Given the description of an element on the screen output the (x, y) to click on. 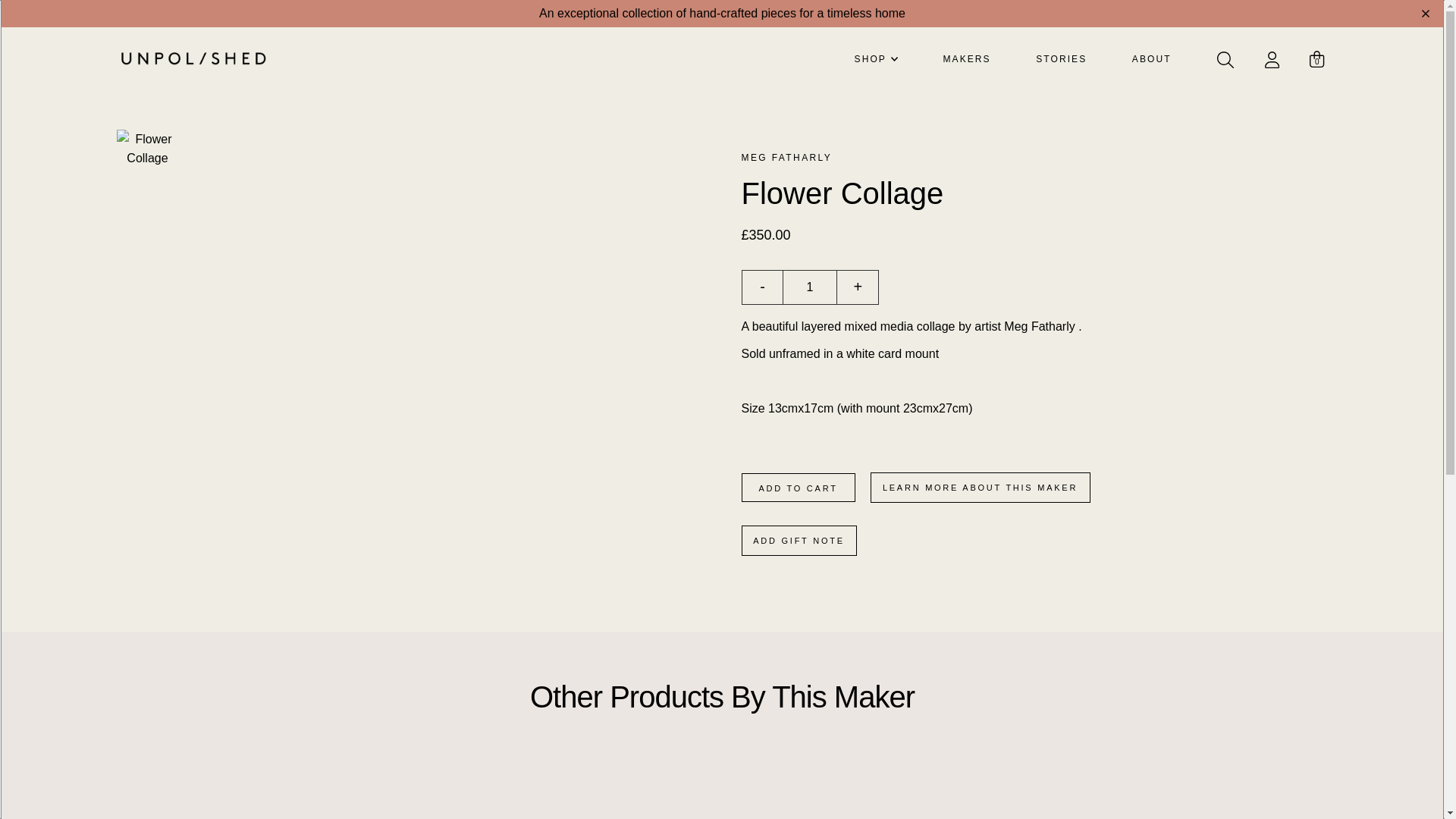
1 (810, 287)
Add to Cart (798, 487)
MAKERS (971, 59)
ABOUT (1157, 59)
Dog with Jumper Card (266, 791)
Embossed Snowdrop (873, 791)
STORIES (1066, 59)
Sitting Dog Card (570, 791)
SHOP (876, 58)
